Given the description of an element on the screen output the (x, y) to click on. 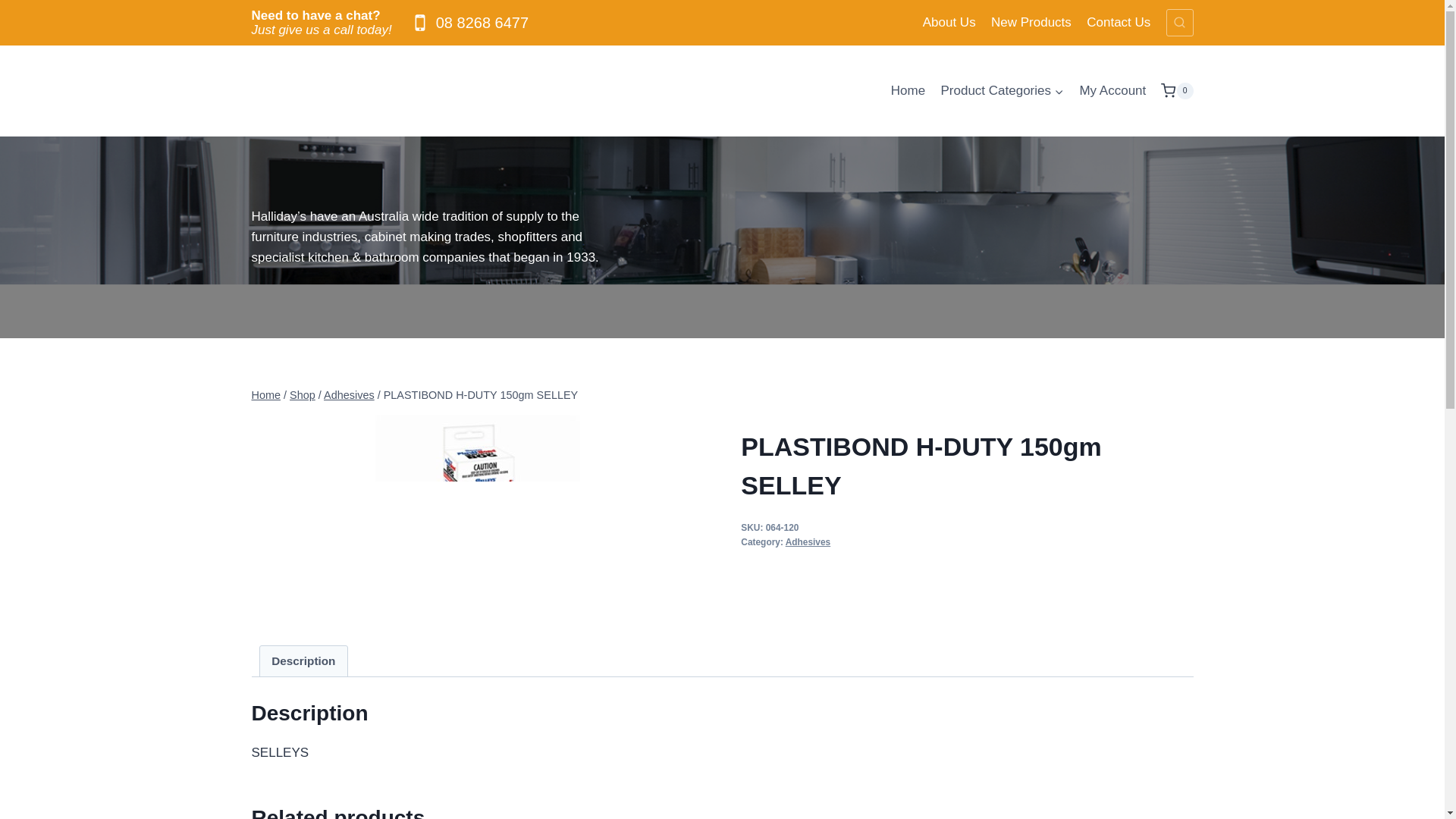
plastibond-h-duty-150gm-selley.jpg (477, 516)
Product Categories (1002, 90)
About Us (949, 22)
New Products (1031, 22)
Contact Us (1117, 22)
08 8268 6477 (467, 22)
Home (908, 90)
